Given the description of an element on the screen output the (x, y) to click on. 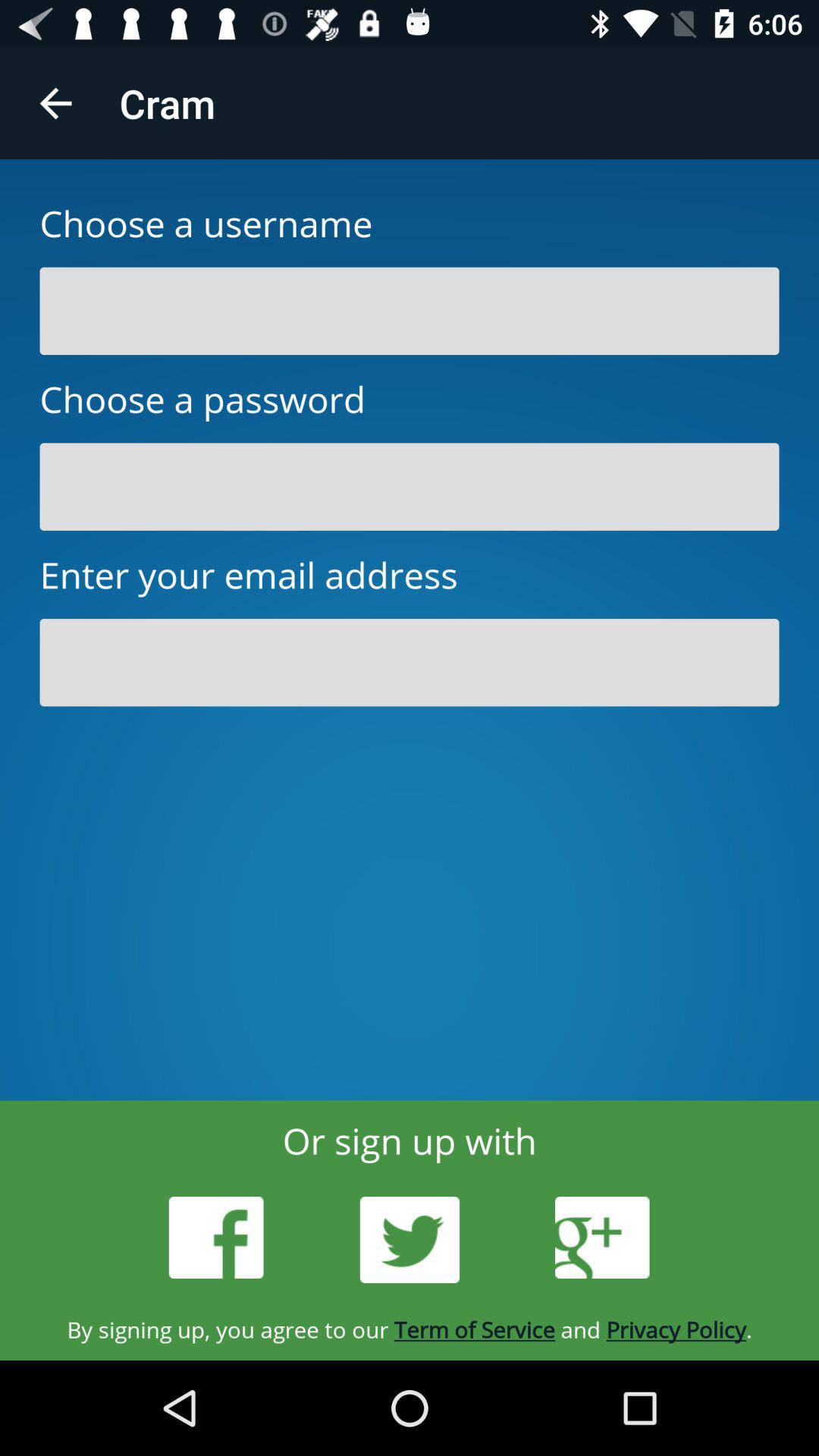
click by signing up item (409, 1329)
